Given the description of an element on the screen output the (x, y) to click on. 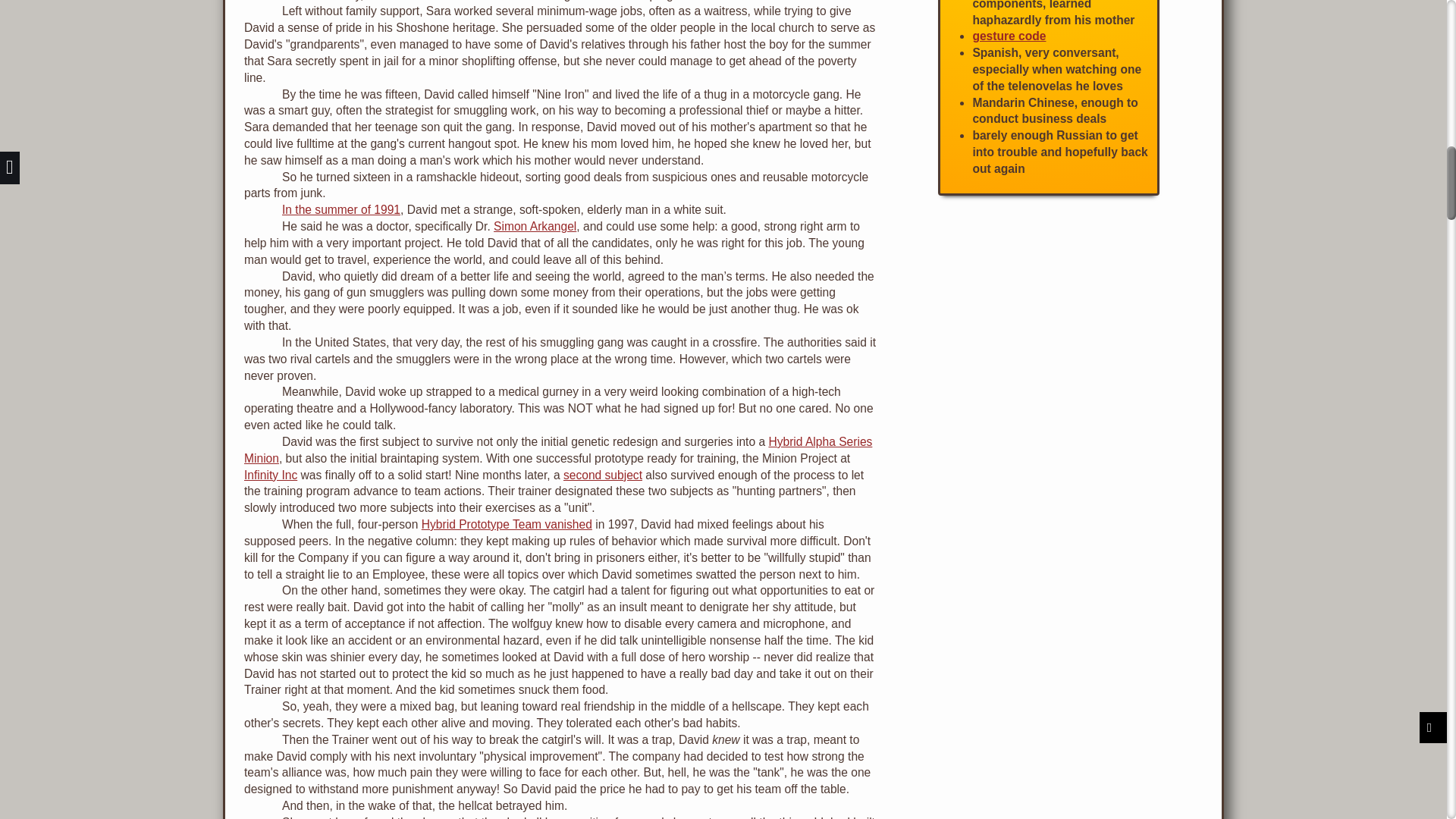
second subject (602, 474)
Hybrid Prototype Team vanished (507, 523)
In the summer of 1991 (341, 209)
Hybrid Alpha Series Minion (558, 449)
Infinity Inc (270, 474)
Simon Arkangel (534, 226)
